Given the description of an element on the screen output the (x, y) to click on. 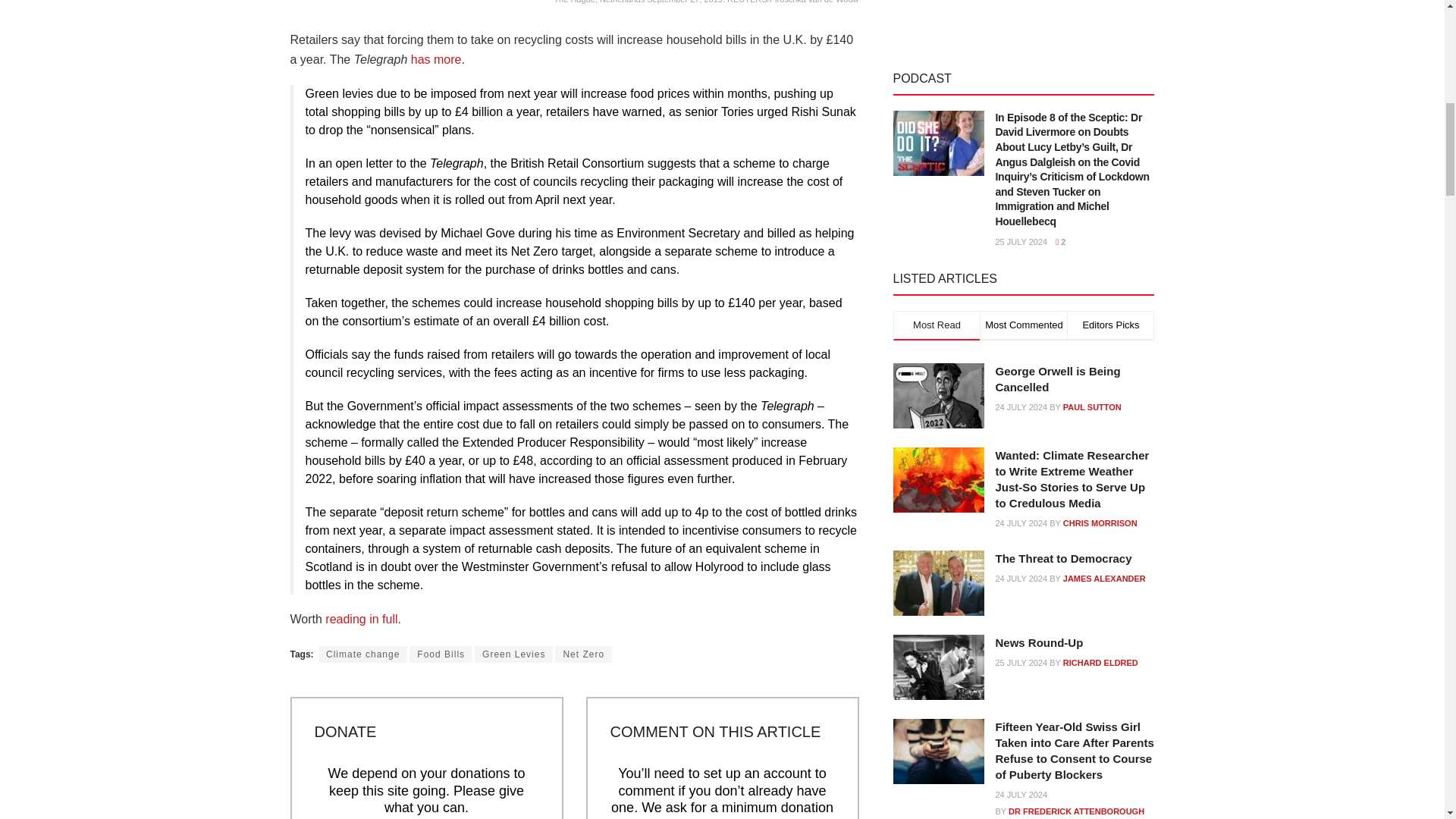
Climate change (362, 654)
Net Zero (582, 654)
Food Bills (440, 654)
has more (435, 59)
reading in full (360, 618)
Green Levies (513, 654)
